Given the description of an element on the screen output the (x, y) to click on. 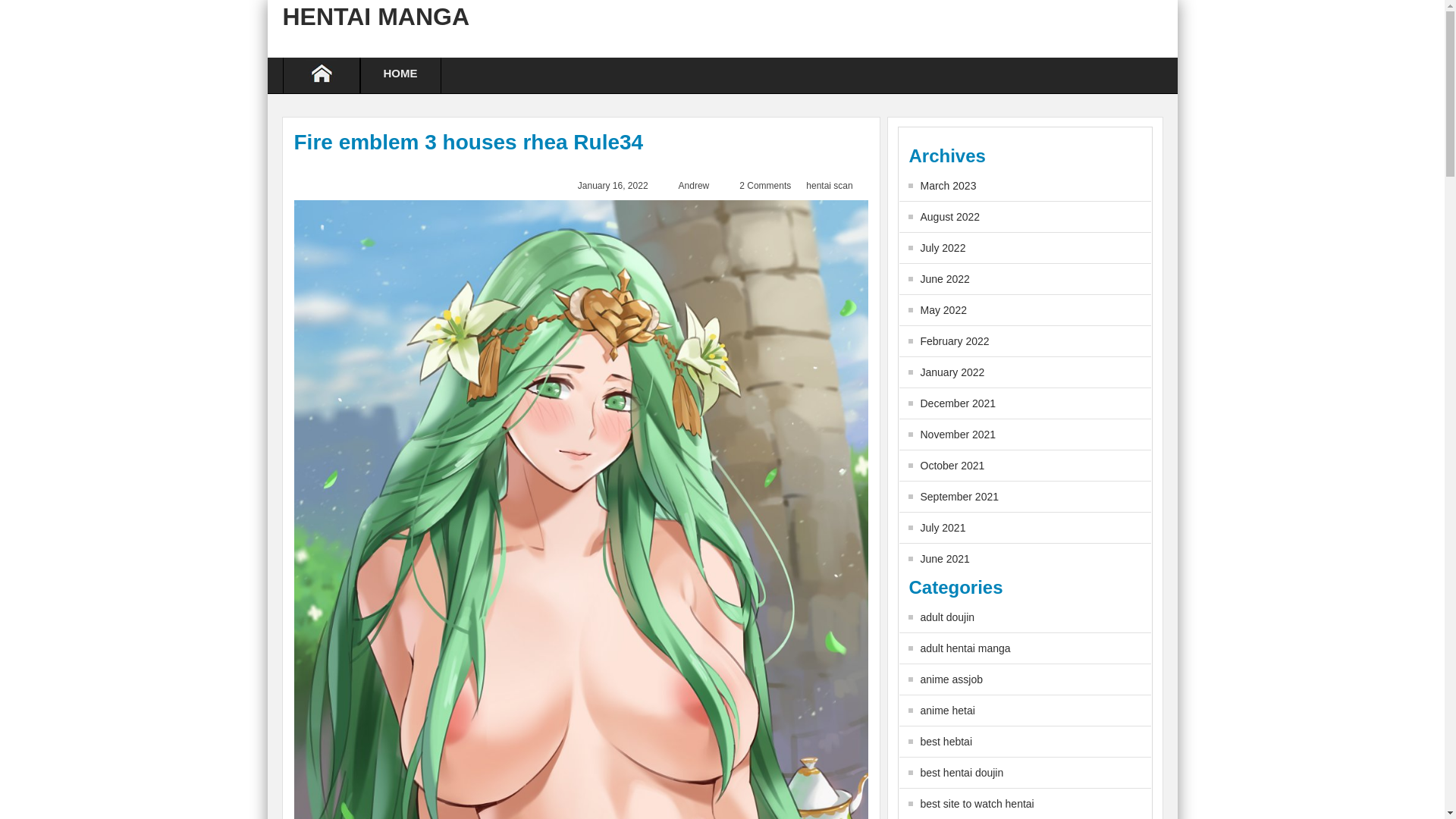
best hebtai (940, 741)
November 2021 (951, 434)
March 2023 (942, 185)
anime hetai (941, 710)
Andrew (694, 185)
HOME (401, 75)
October 2021 (946, 465)
hentai scan (828, 185)
anime assjob (946, 679)
December 2021 (951, 403)
